Given the description of an element on the screen output the (x, y) to click on. 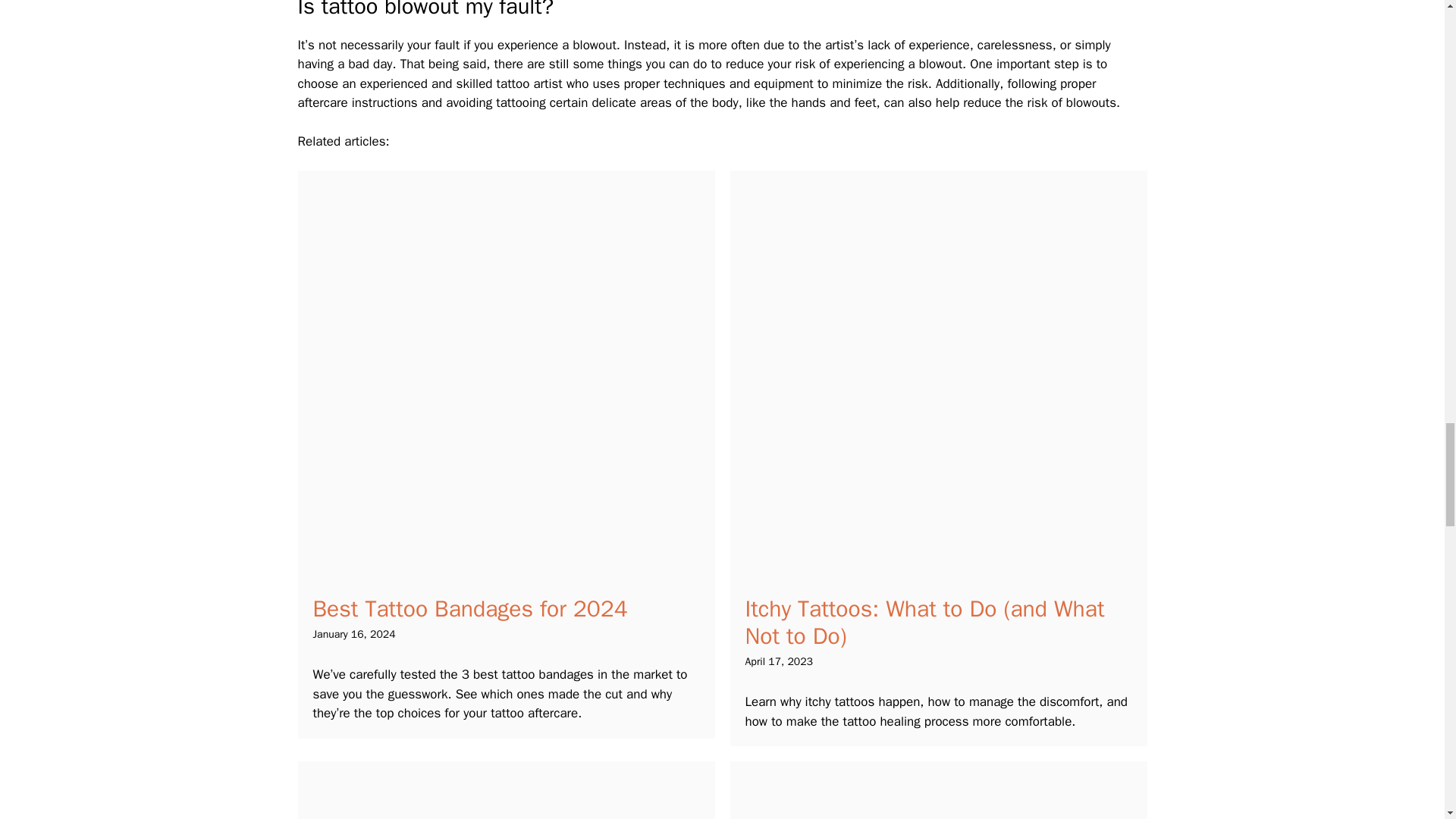
Best Tattoo Bandages for 2024 (470, 608)
